Given the description of an element on the screen output the (x, y) to click on. 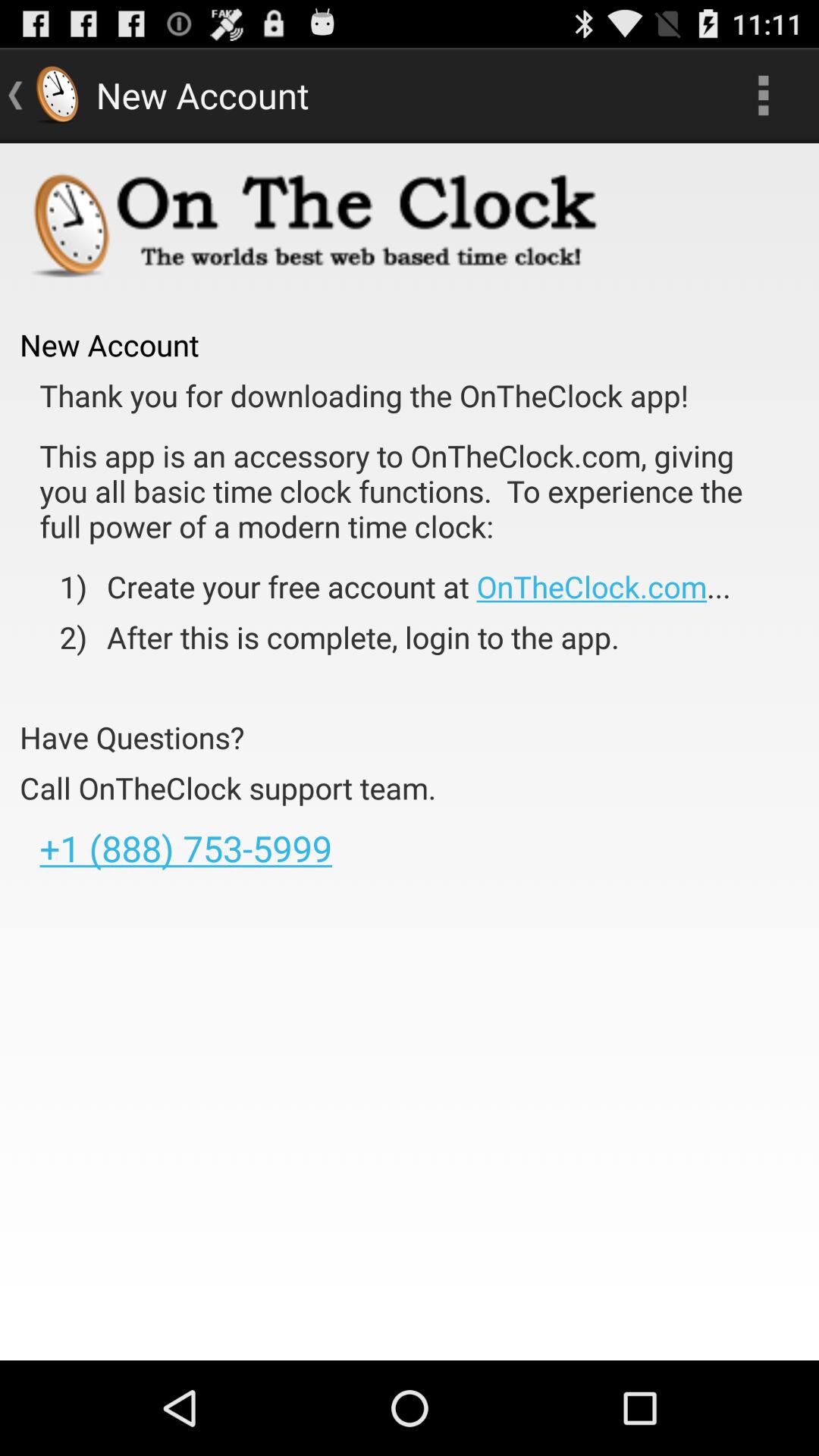
turn off thank you for app (363, 395)
